Given the description of an element on the screen output the (x, y) to click on. 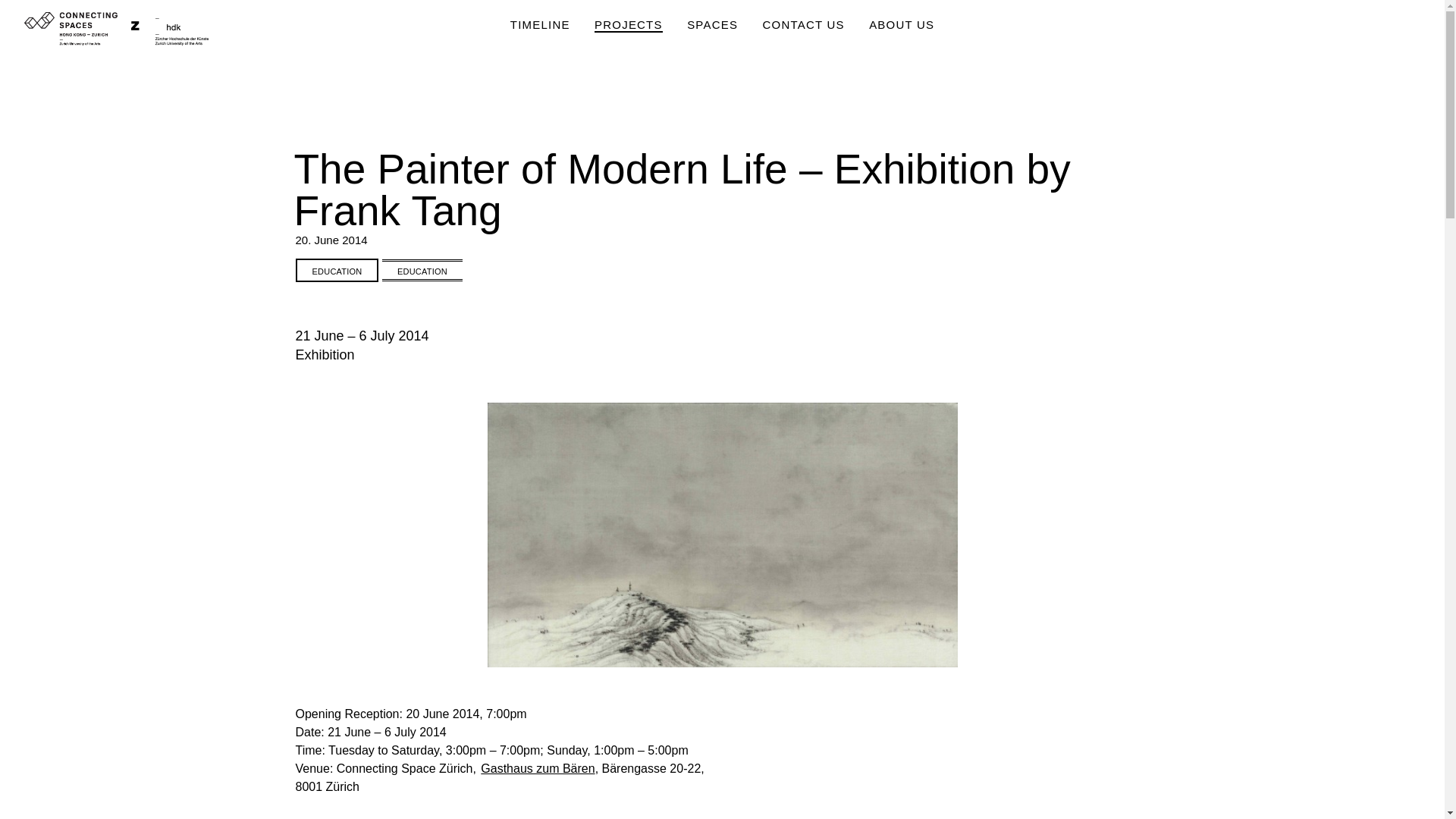
EDUCATION (422, 270)
EDUCATION (336, 269)
CONTACT US (803, 25)
PROJECTS (628, 25)
SPACES (712, 25)
TIMELINE (540, 25)
ABOUT US (901, 25)
